Given the description of an element on the screen output the (x, y) to click on. 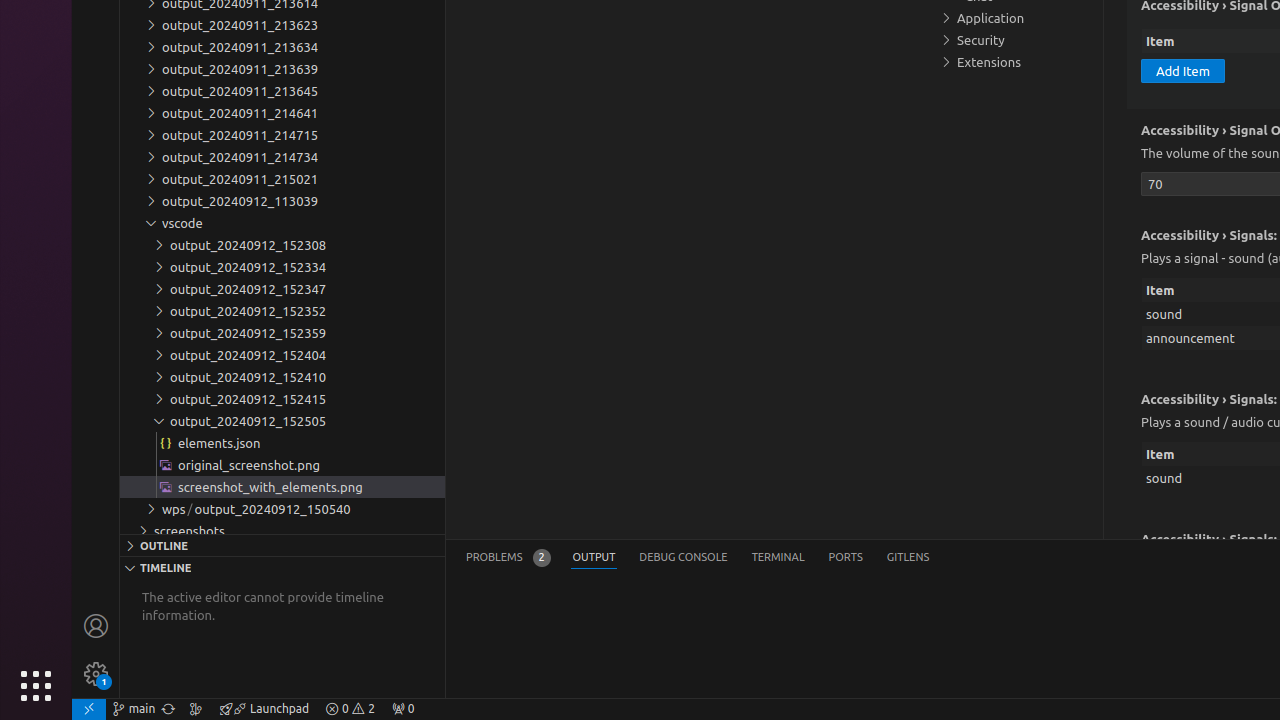
Debug Console (Ctrl+Shift+Y) Element type: page-tab (683, 557)
screenshot_with_elements.png Element type: tree-item (282, 487)
output_20240912_152404 Element type: tree-item (282, 355)
output_20240911_214641 Element type: tree-item (282, 113)
vscode Element type: tree-item (282, 223)
